Given the description of an element on the screen output the (x, y) to click on. 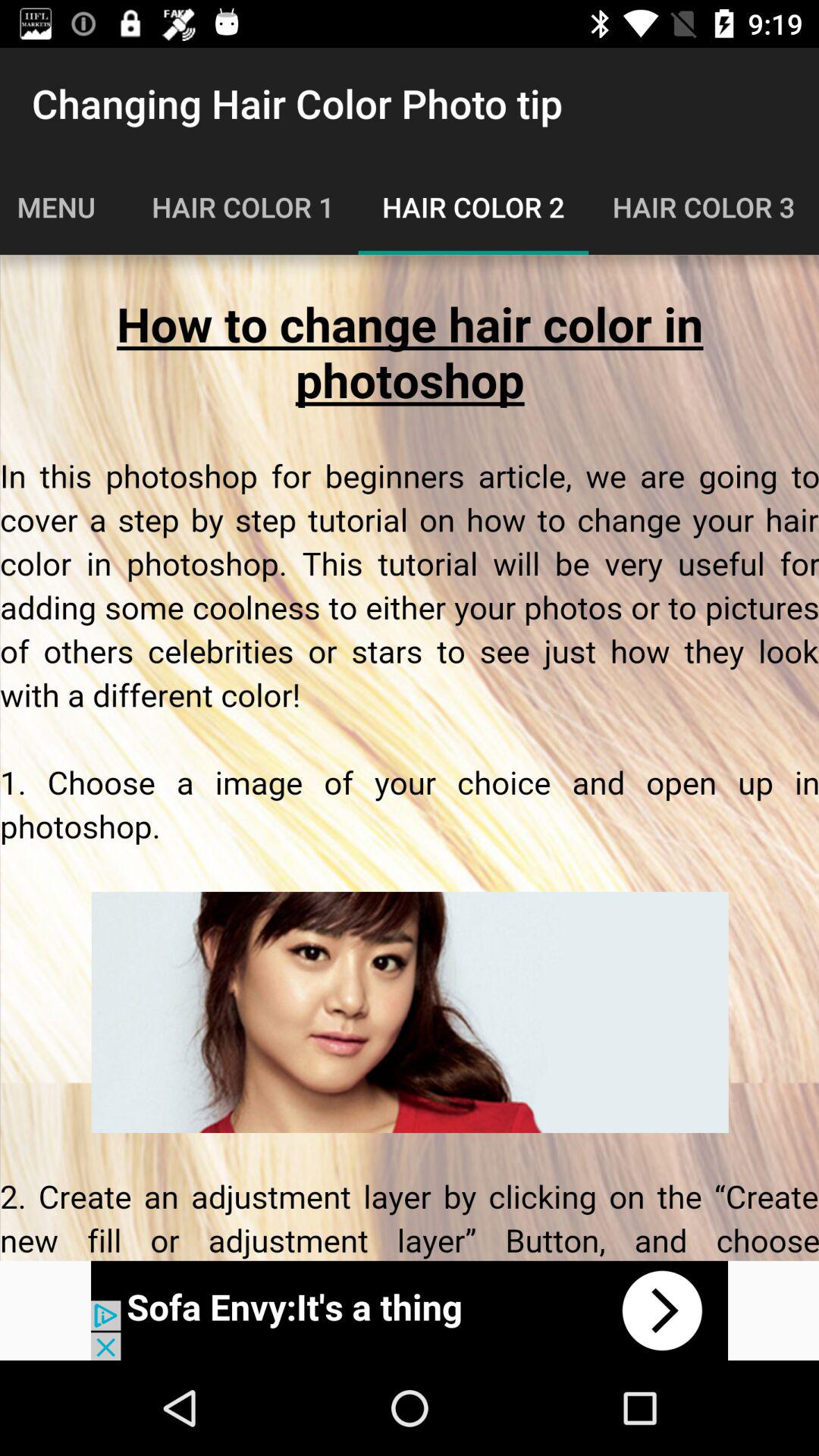
open advertisement (409, 1310)
